Given the description of an element on the screen output the (x, y) to click on. 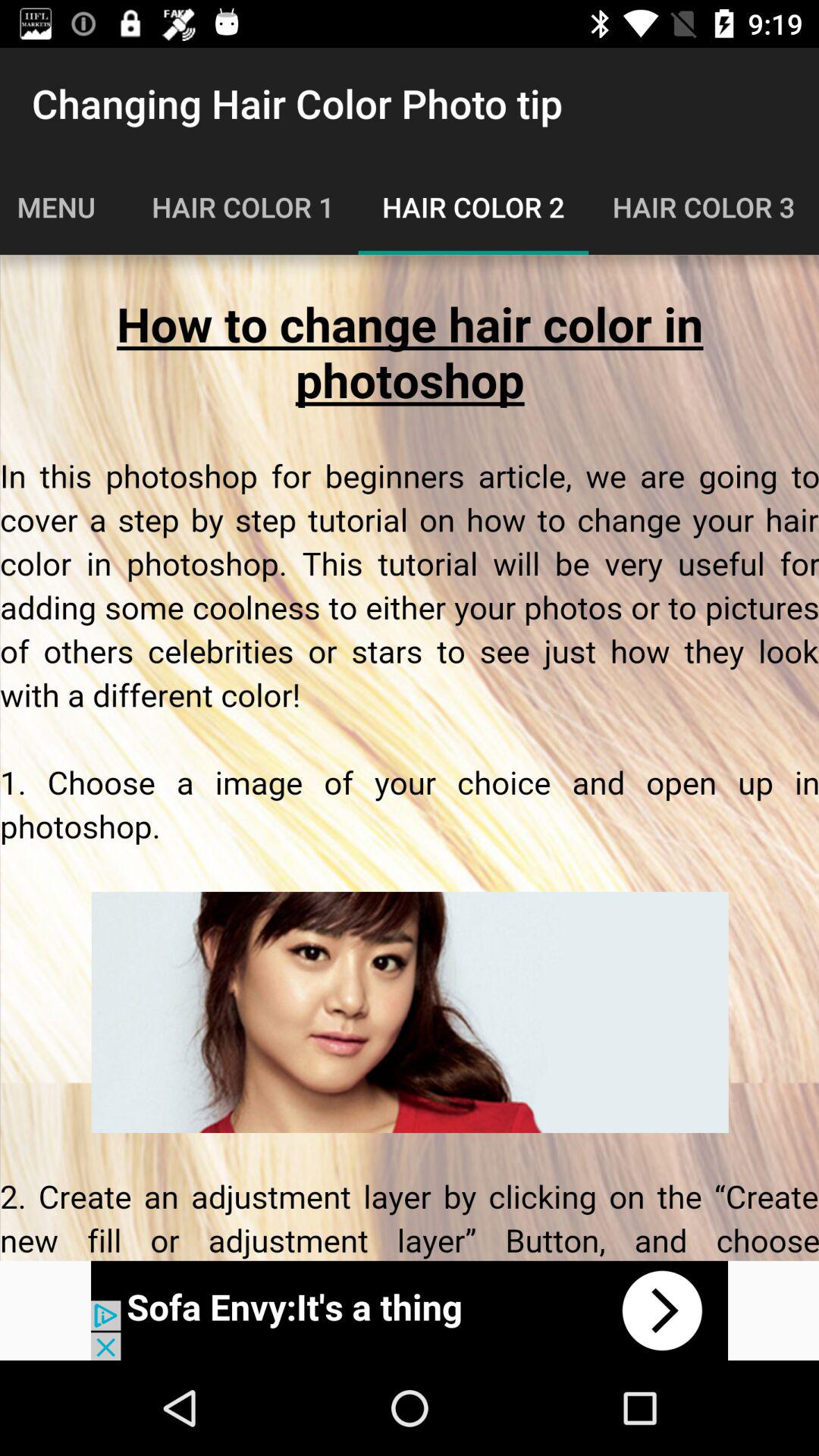
open advertisement (409, 1310)
